Given the description of an element on the screen output the (x, y) to click on. 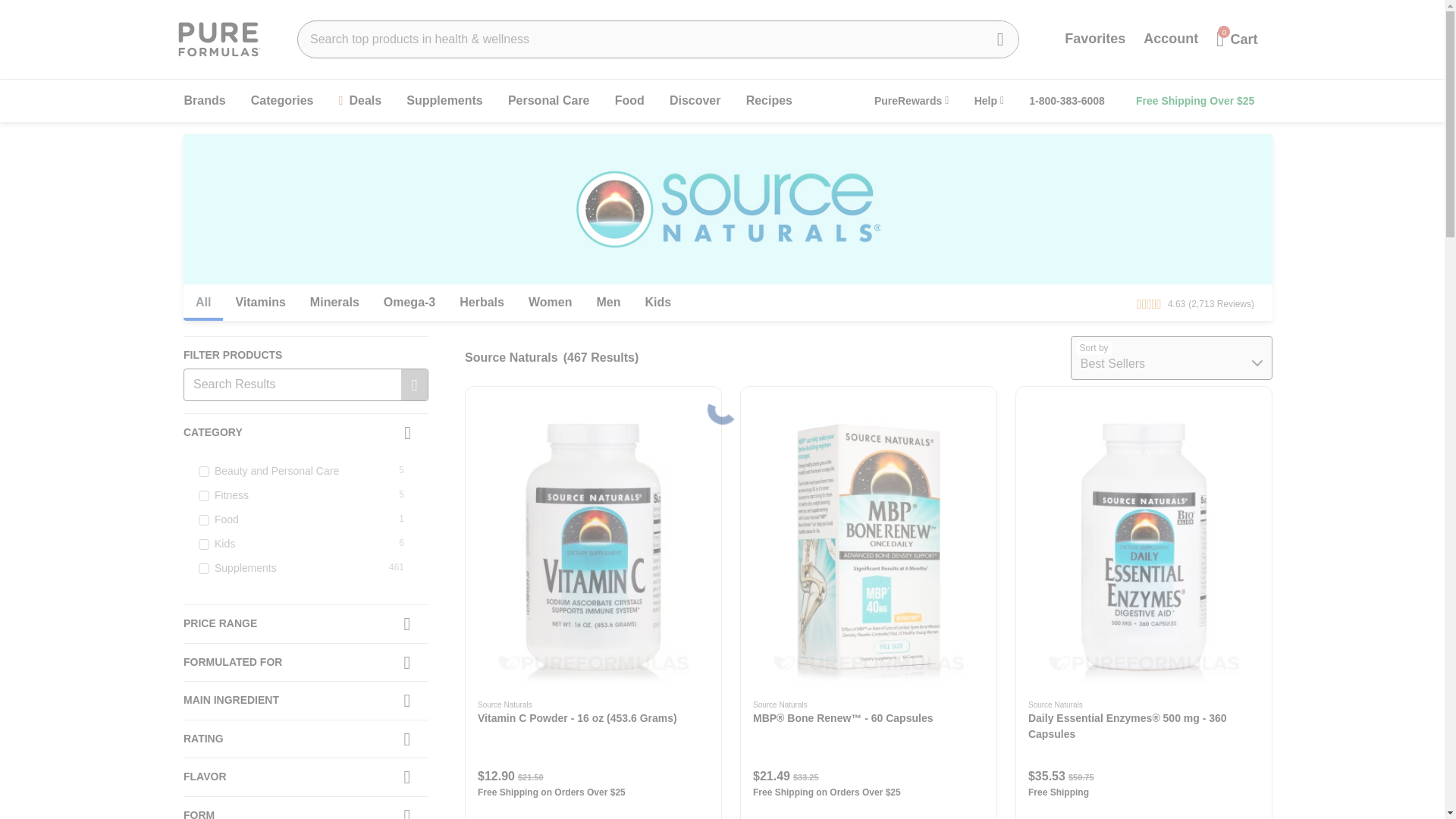
Recipes (768, 100)
Categories (282, 100)
Deals (360, 100)
PureRewards (911, 100)
1-800-383-6008 (1066, 100)
Supplements (443, 100)
Favorites (1094, 38)
Personal Care (548, 100)
Food (629, 100)
Account (1170, 38)
